Given the description of an element on the screen output the (x, y) to click on. 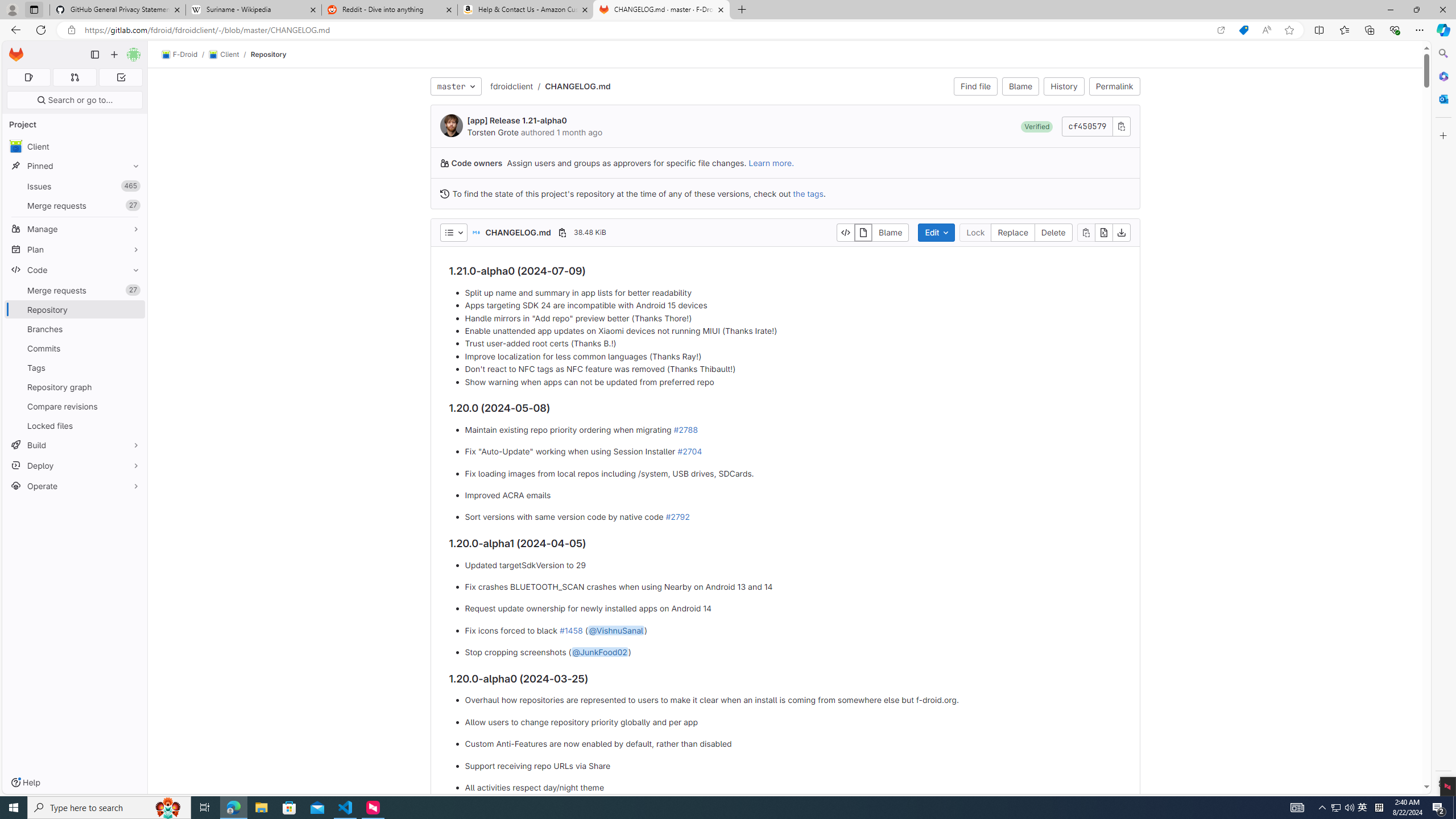
Unpin Issues (132, 186)
